Given the description of an element on the screen output the (x, y) to click on. 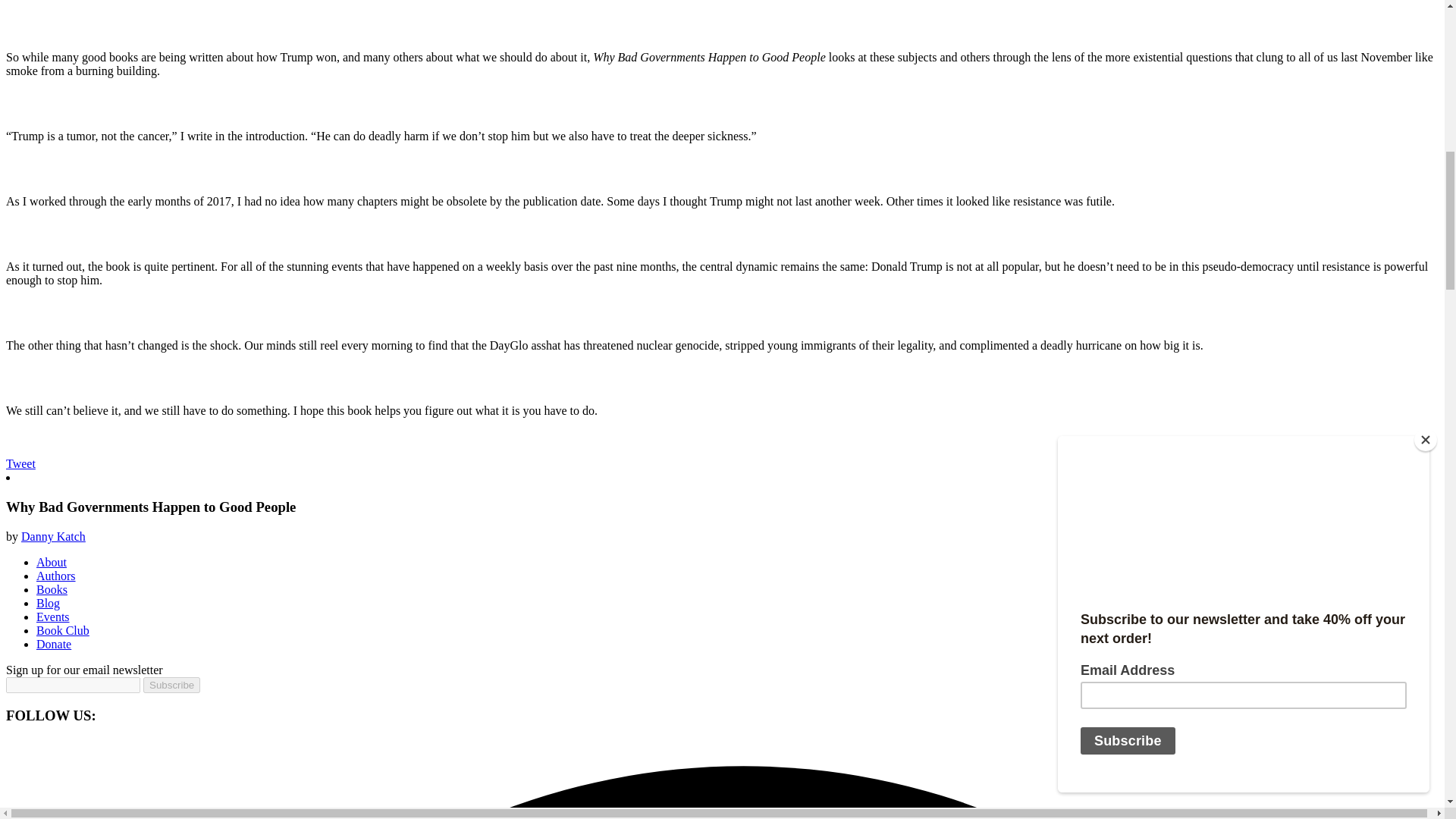
Subscribe (171, 684)
Blog (47, 603)
Tweet (19, 463)
Authors (55, 575)
Book Club (62, 630)
Danny Katch (53, 535)
Subscribe (171, 684)
Events (52, 616)
Books (51, 589)
About (51, 562)
Donate (53, 644)
